Given the description of an element on the screen output the (x, y) to click on. 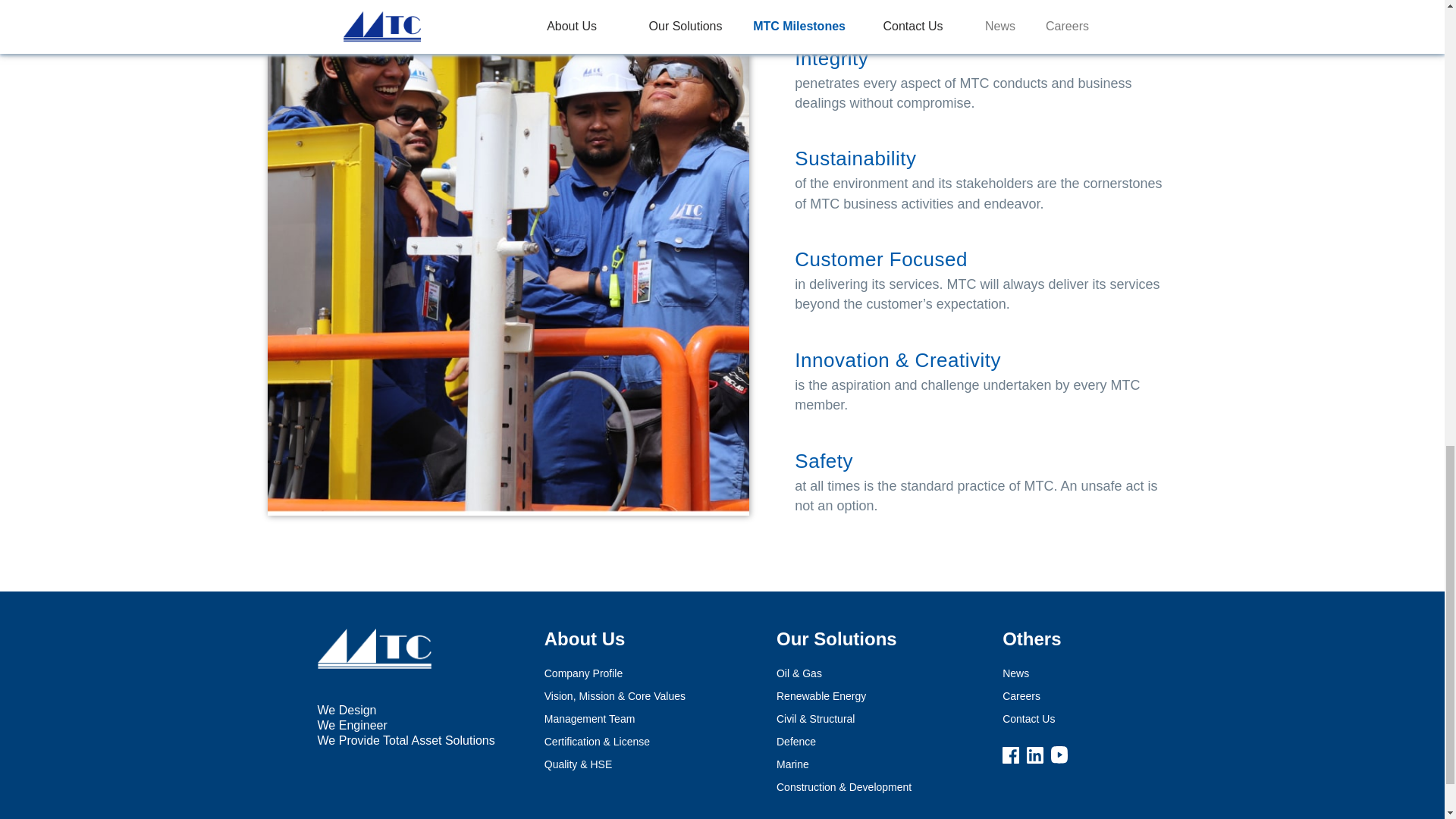
News (1035, 676)
Marine (811, 767)
Management Team (608, 722)
Defence (814, 744)
Careers (1040, 699)
Renewable Energy (840, 699)
Contact Us (1048, 722)
Company Profile (602, 676)
